Given the description of an element on the screen output the (x, y) to click on. 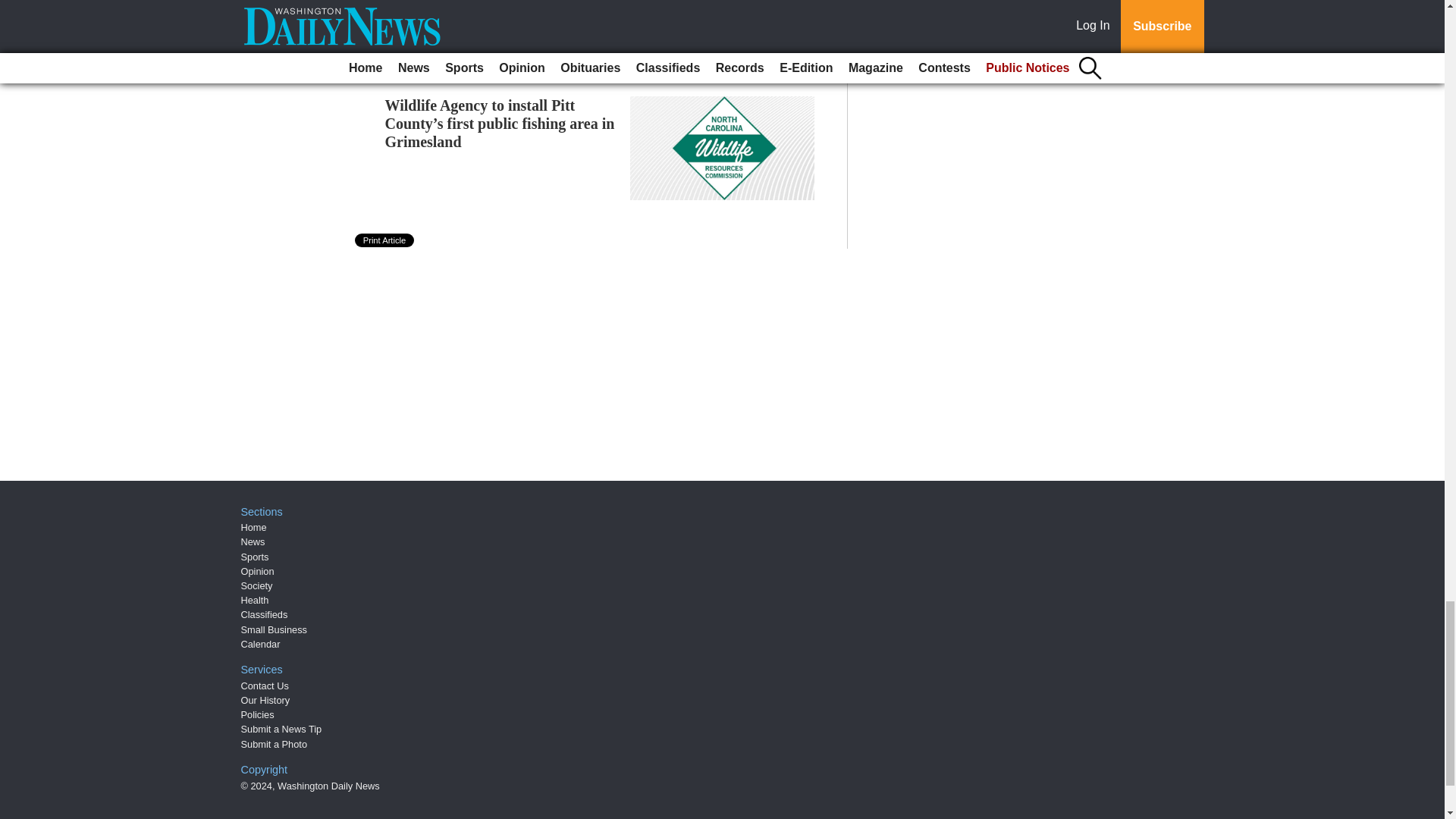
Opinion (258, 571)
Print Article (384, 240)
Sports (255, 556)
News (252, 541)
Home (253, 527)
